Given the description of an element on the screen output the (x, y) to click on. 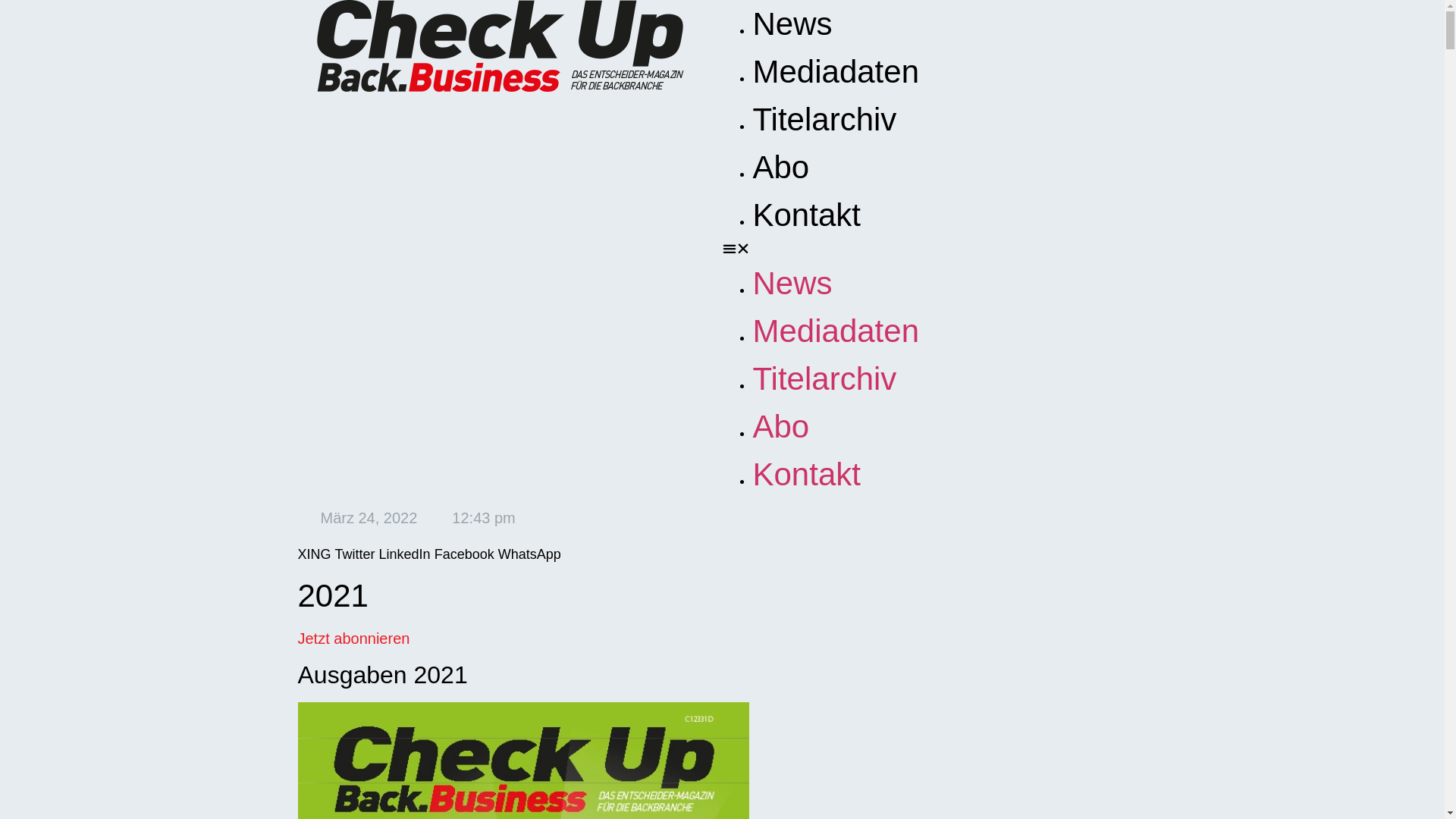
Mediadaten Element type: text (835, 71)
Abo Element type: text (780, 167)
Kontakt Element type: text (805, 214)
Kontakt Element type: text (805, 474)
Mediadaten Element type: text (835, 330)
News Element type: text (791, 283)
Jetzt abonnieren Element type: text (353, 638)
Titelarchiv Element type: text (824, 119)
News Element type: text (791, 23)
Titelarchiv Element type: text (824, 378)
Abo Element type: text (780, 426)
